Given the description of an element on the screen output the (x, y) to click on. 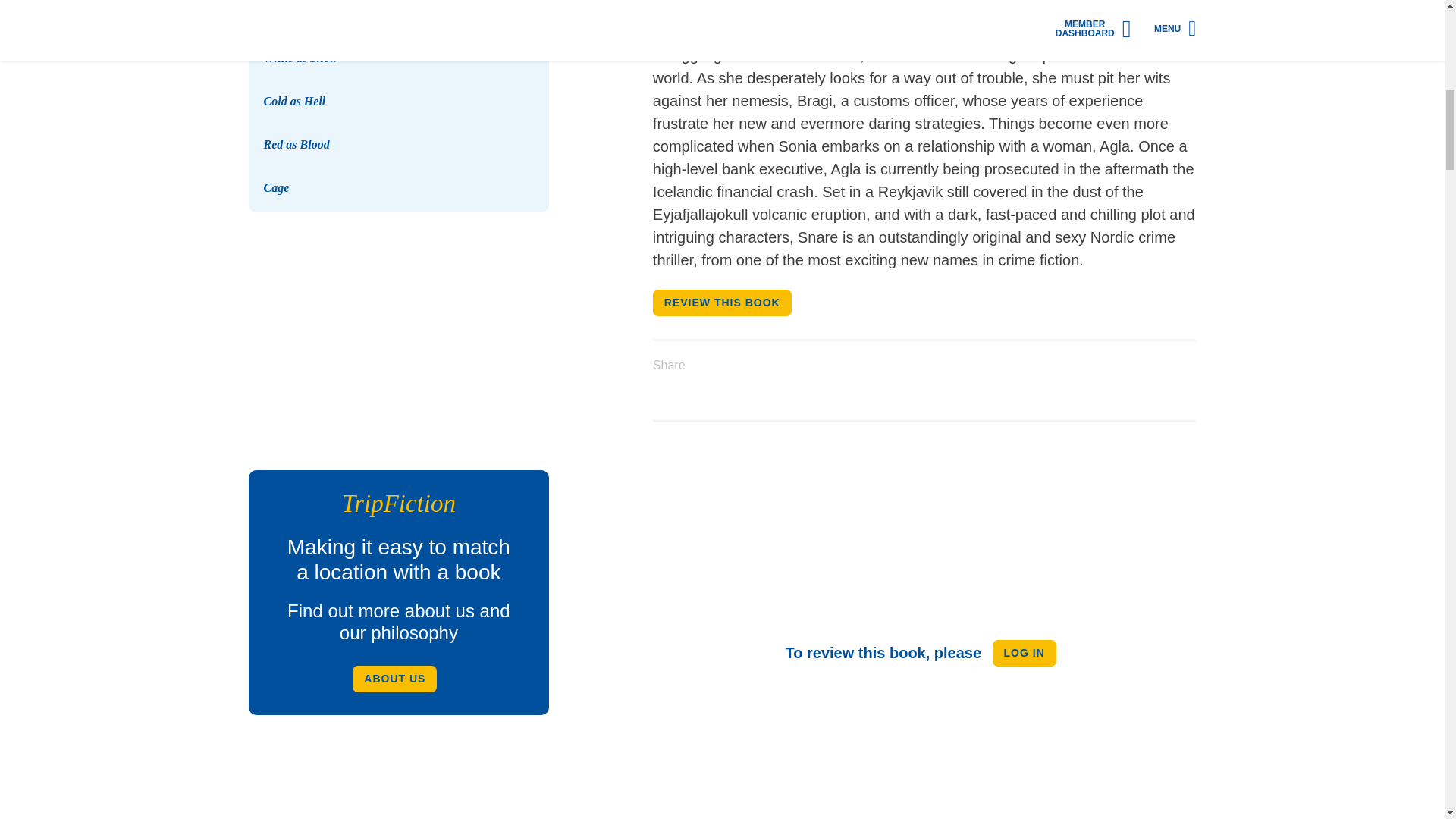
Red as Blood (296, 144)
Cage (276, 187)
White as Snow (300, 57)
ABOUT US (394, 678)
Cold as Hell (294, 101)
REVIEW THIS BOOK (722, 302)
LOG IN (1024, 652)
White as Snow (398, 30)
